Given the description of an element on the screen output the (x, y) to click on. 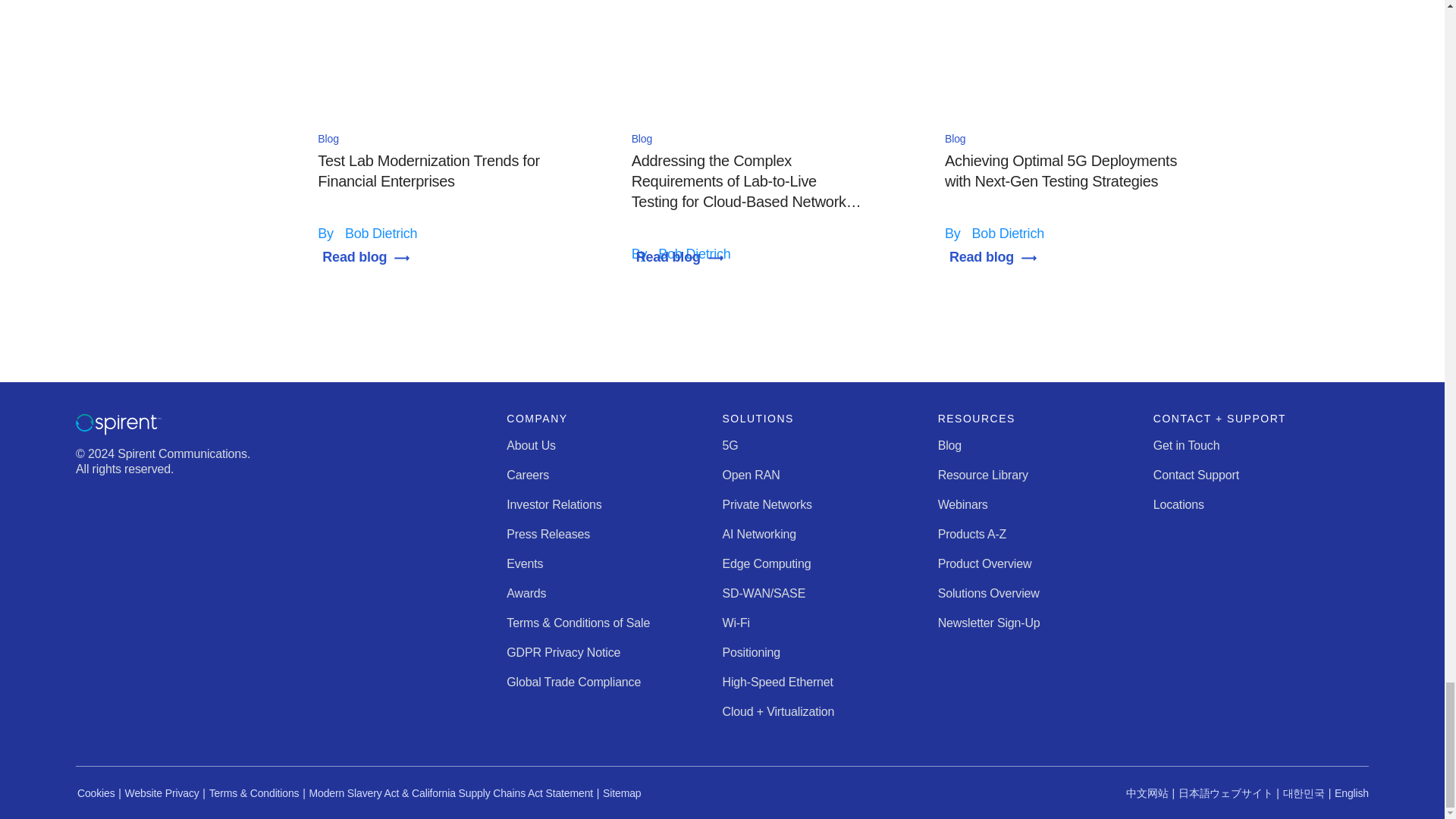
By (327, 233)
Bob Dietrich (380, 233)
Read blog (368, 256)
